Given the description of an element on the screen output the (x, y) to click on. 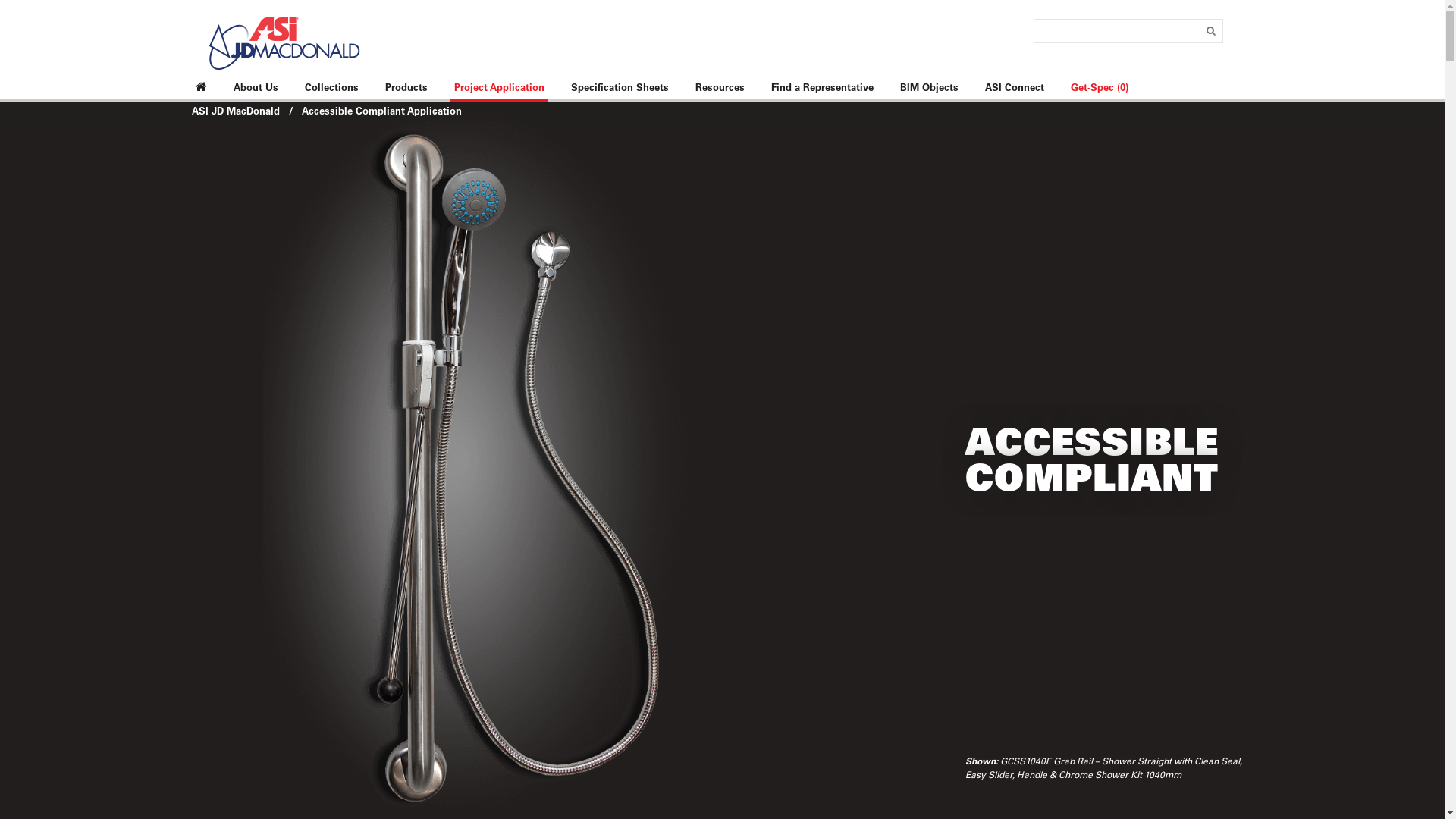
Find a Representative Element type: text (822, 87)
BIM Objects Element type: text (929, 87)
ASI Connect Element type: text (1014, 87)
ASI JD MacDonald Element type: text (235, 109)
Project Application Element type: text (499, 89)
Products Element type: text (405, 87)
Search Element type: text (21, 8)
Get-Spec (0) Element type: text (1098, 89)
About Us Element type: text (255, 87)
Specification Sheets Element type: text (619, 87)
Collections Element type: text (330, 87)
Resources Element type: text (719, 87)
